Given the description of an element on the screen output the (x, y) to click on. 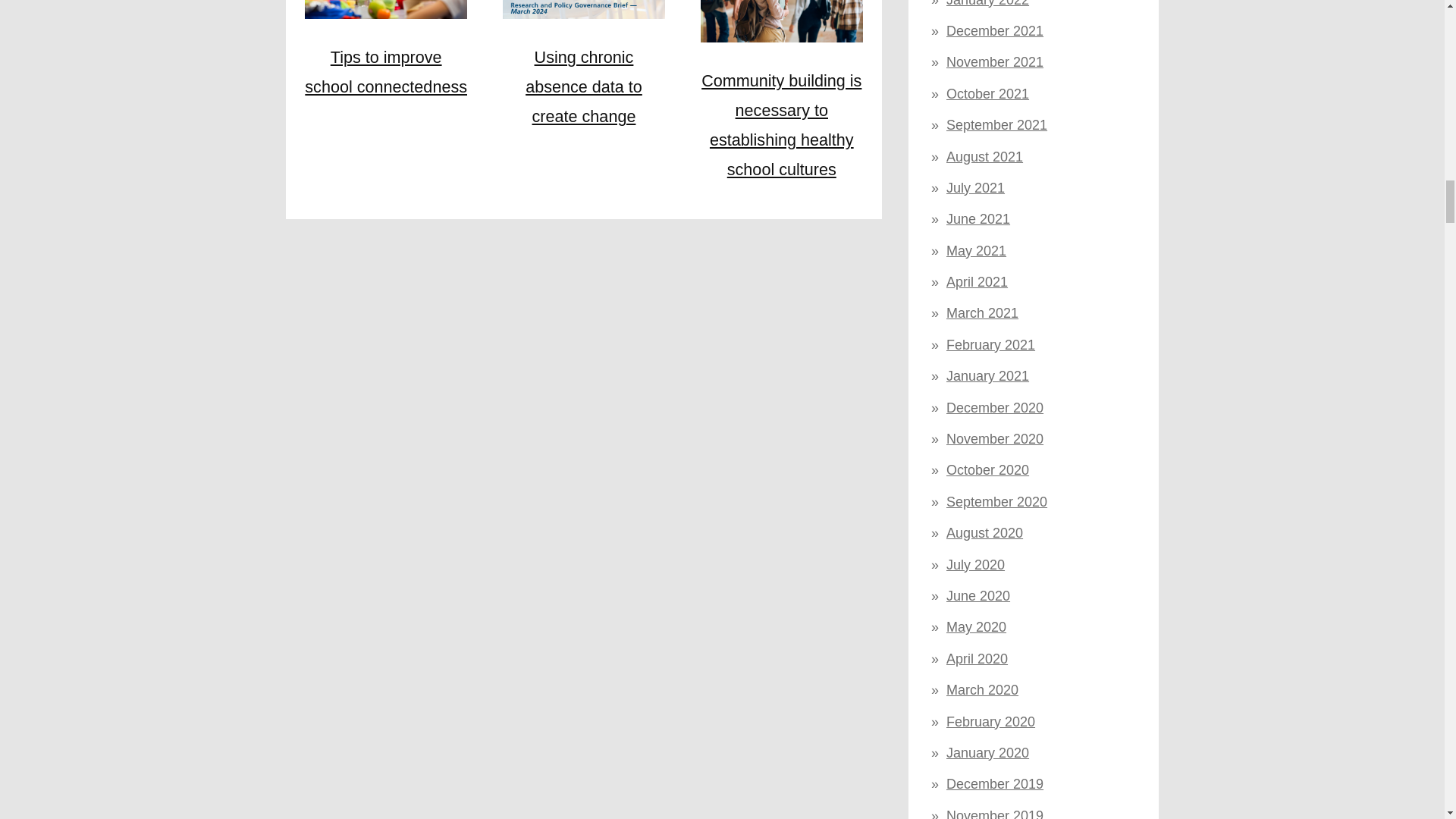
Tips to improve school connectedness (385, 71)
Using chronic absence data to create change (583, 86)
